Given the description of an element on the screen output the (x, y) to click on. 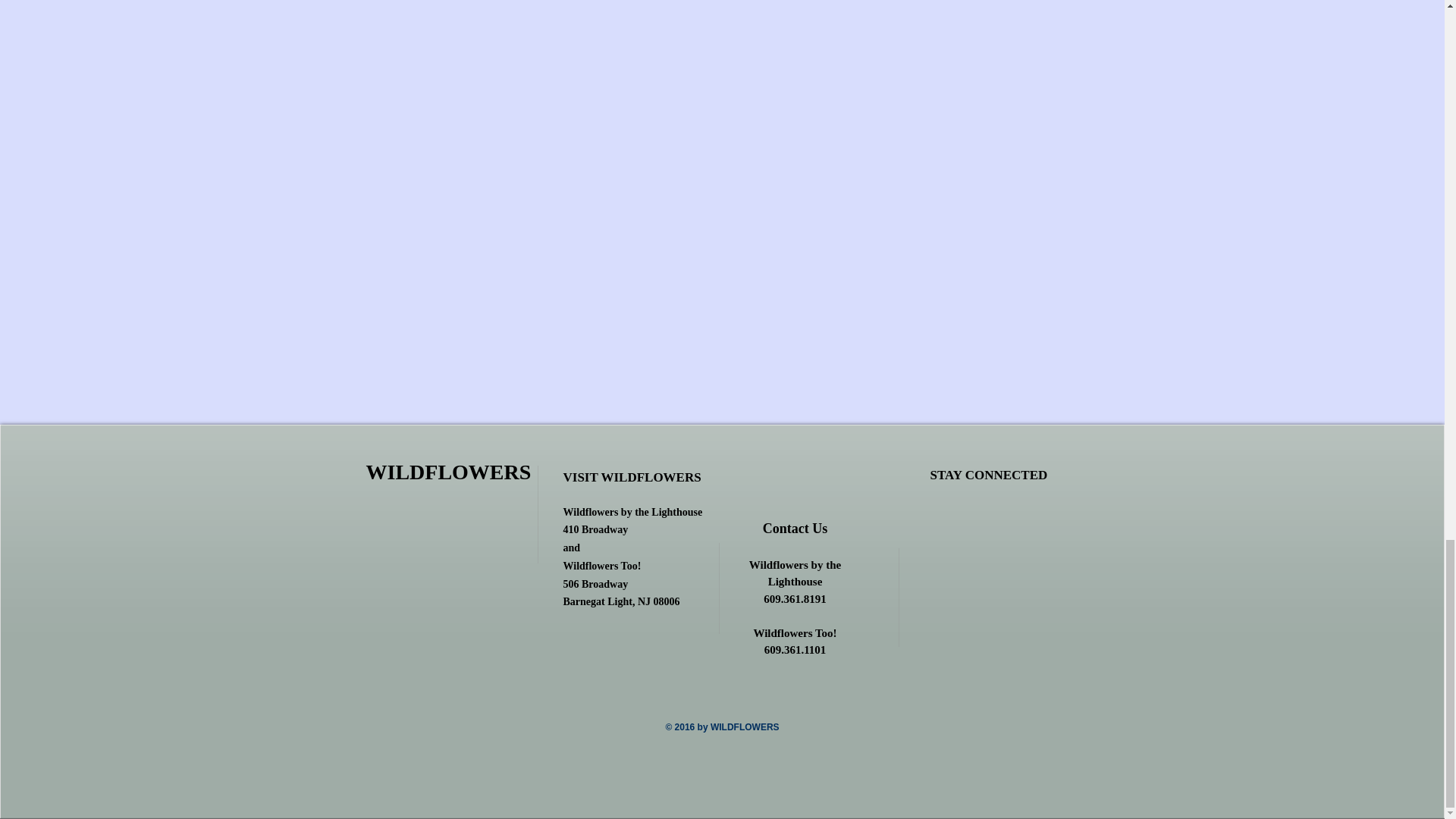
WILDFLOWERS (448, 472)
